Given the description of an element on the screen output the (x, y) to click on. 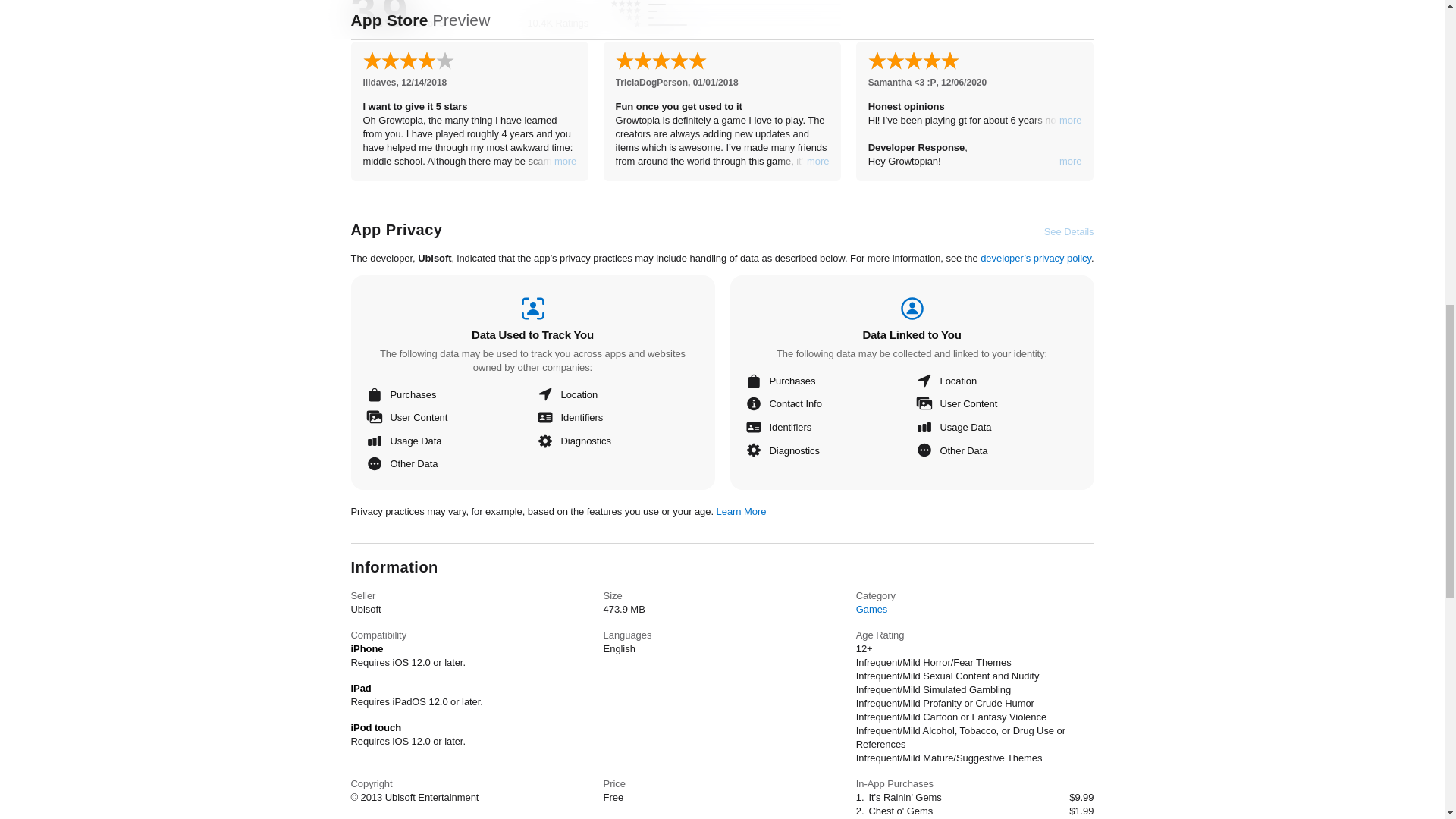
more (817, 161)
Games (872, 609)
more (565, 161)
more (1070, 120)
Learn More (741, 511)
See Details (1068, 232)
more (1070, 161)
